Given the description of an element on the screen output the (x, y) to click on. 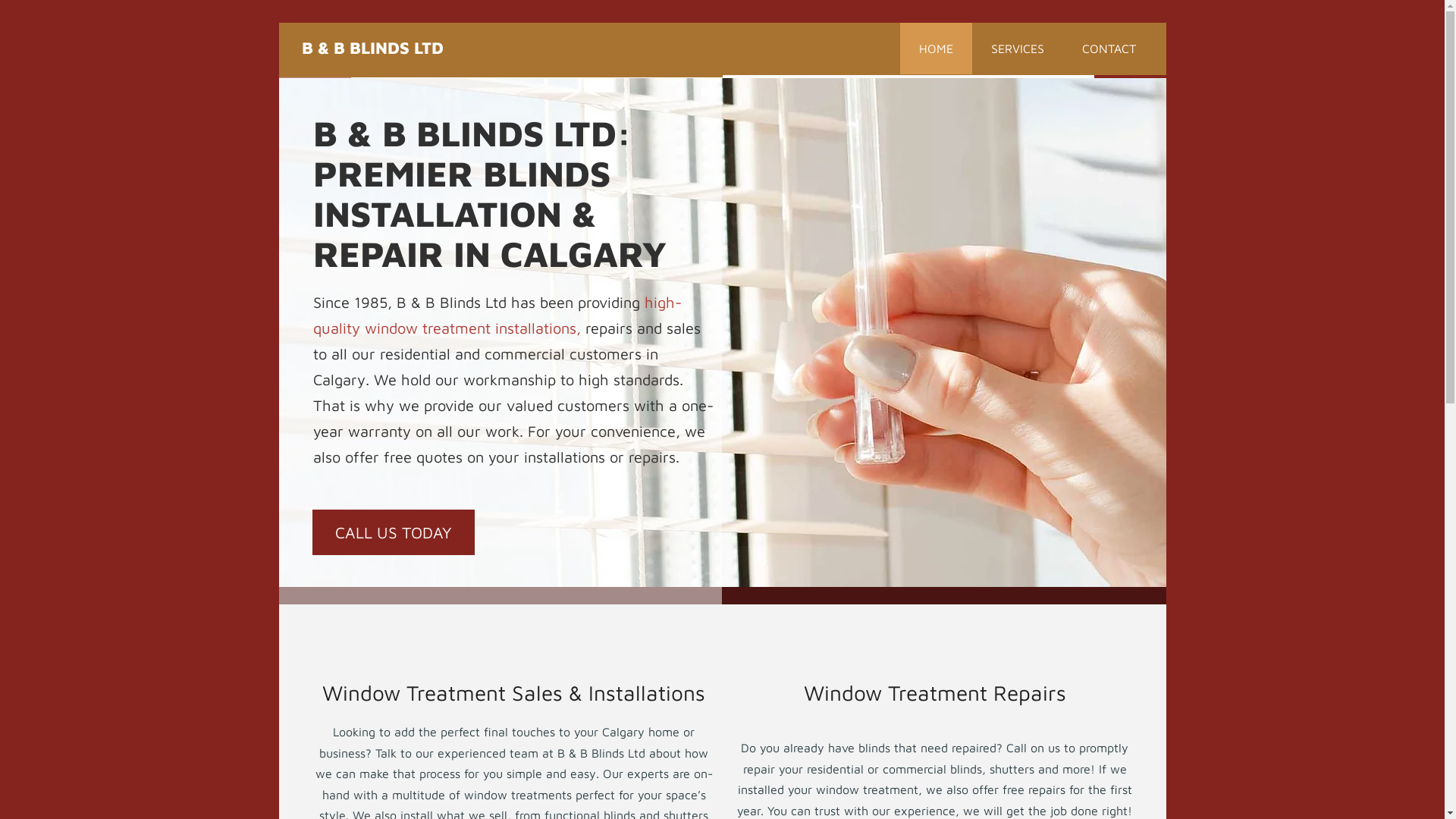
high-quality window treatment installations, Element type: text (496, 314)
HOME Element type: text (936, 48)
SERVICES Element type: text (1017, 48)
B & B BLINDS LTD Element type: text (372, 47)
CALL US TODAY Element type: text (393, 532)
CONTACT Element type: text (1108, 48)
